Given the description of an element on the screen output the (x, y) to click on. 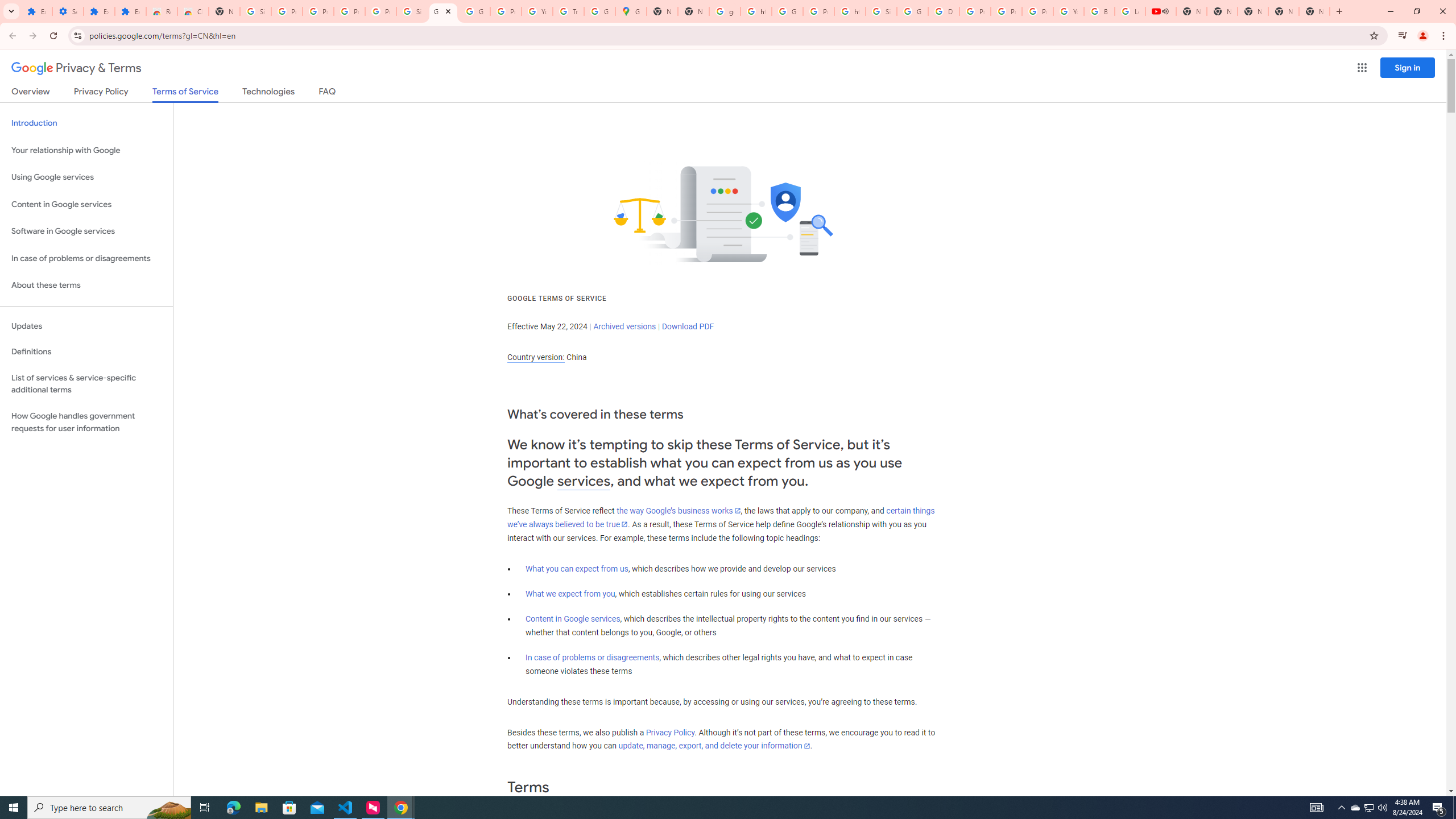
YouTube (1068, 11)
What you can expect from us (576, 568)
Chrome Web Store - Themes (192, 11)
List of services & service-specific additional terms (86, 383)
Reviews: Helix Fruit Jump Arcade Game (161, 11)
In case of problems or disagreements (592, 657)
YouTube (536, 11)
Extensions (36, 11)
